Given the description of an element on the screen output the (x, y) to click on. 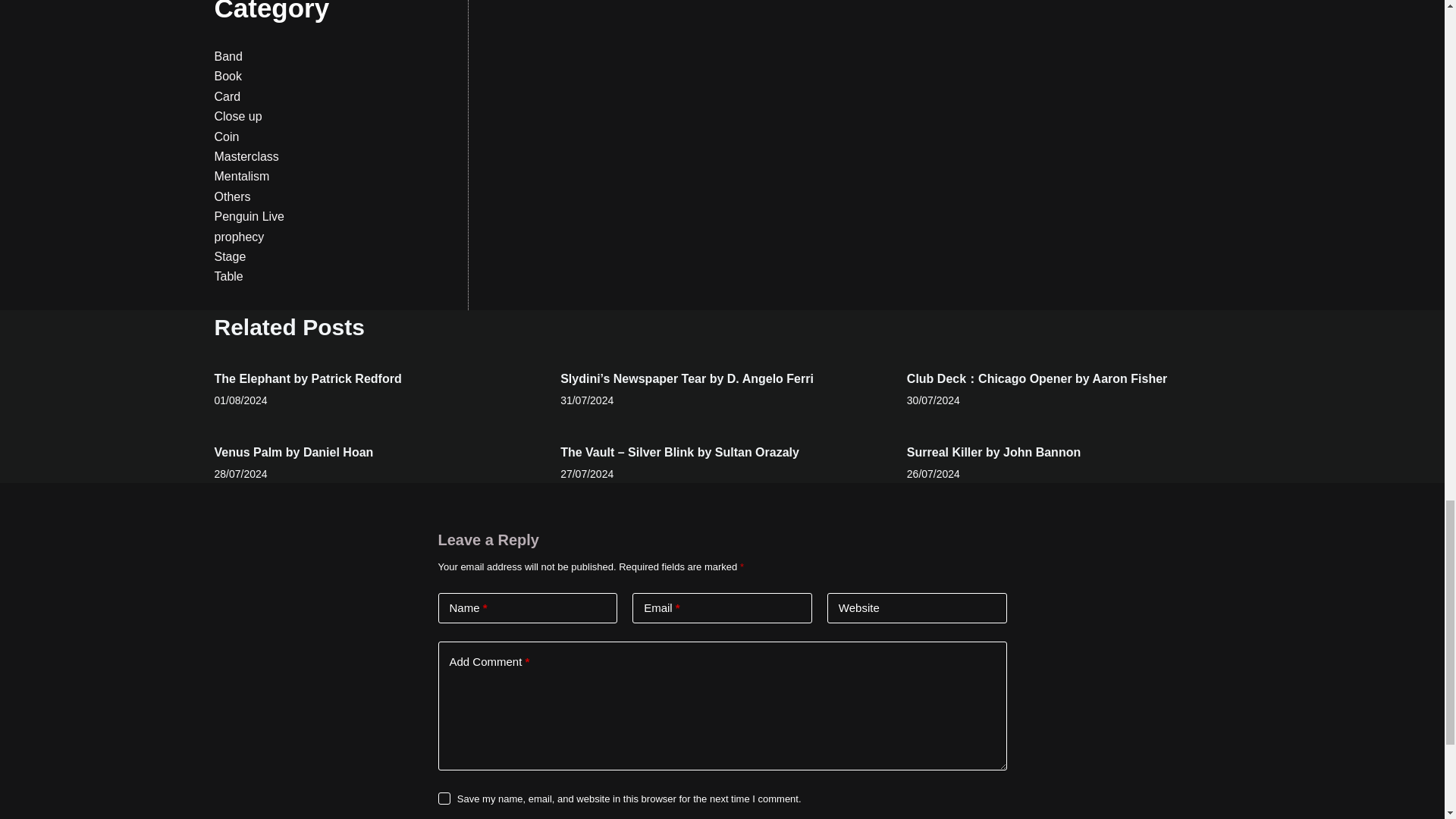
yes (443, 798)
